Given the description of an element on the screen output the (x, y) to click on. 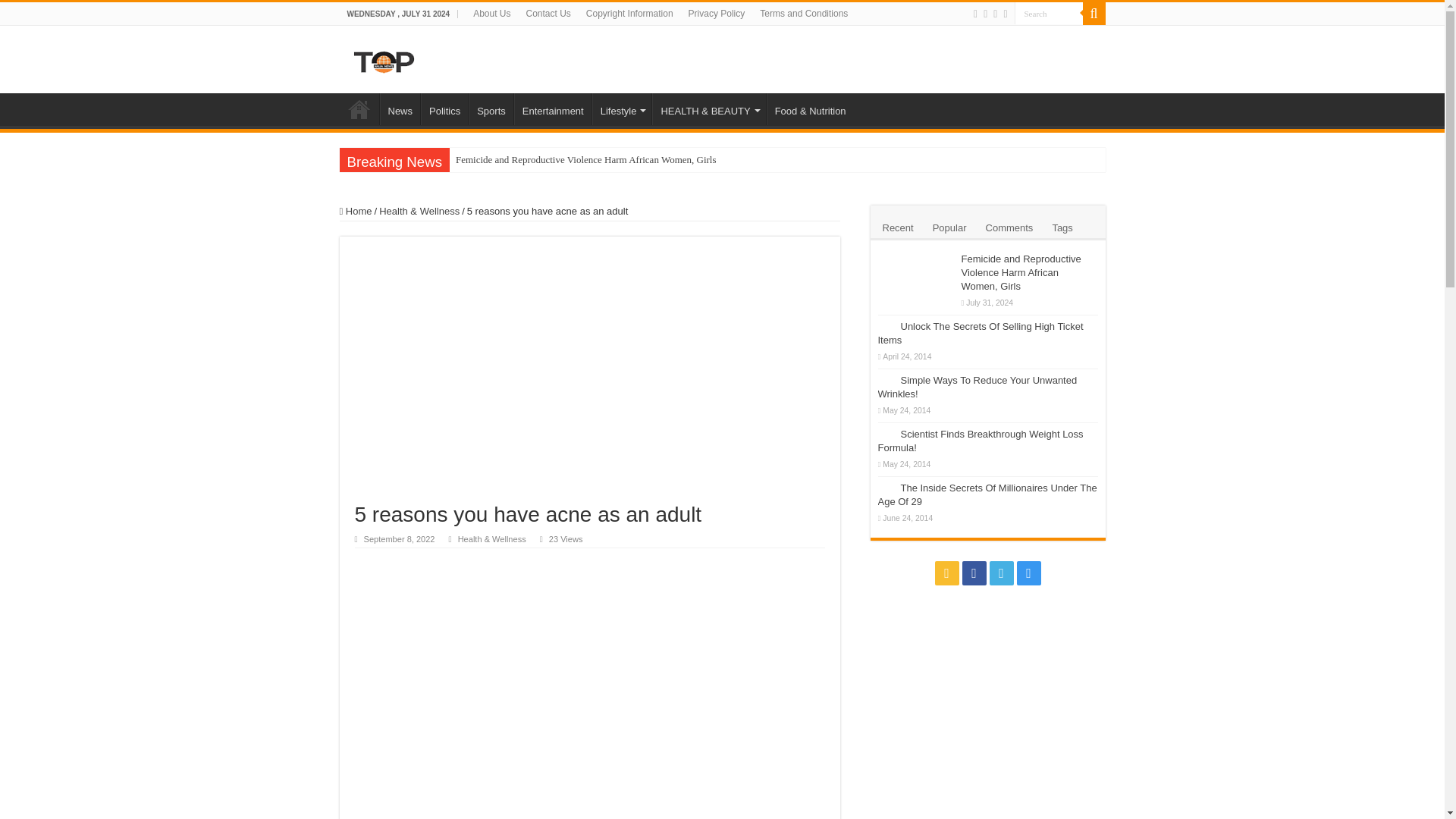
Lifestyle (622, 109)
Politics (443, 109)
Copyright Information (629, 13)
Femicide and Reproductive Violence Harm African Women, Girls (683, 159)
Search (1048, 13)
Terms and Conditions (804, 13)
Privacy Policy (716, 13)
Sports (490, 109)
Contact Us (548, 13)
About Us (491, 13)
Home (355, 211)
Home (358, 109)
Search (1048, 13)
Search (1094, 13)
Search (1048, 13)
